Given the description of an element on the screen output the (x, y) to click on. 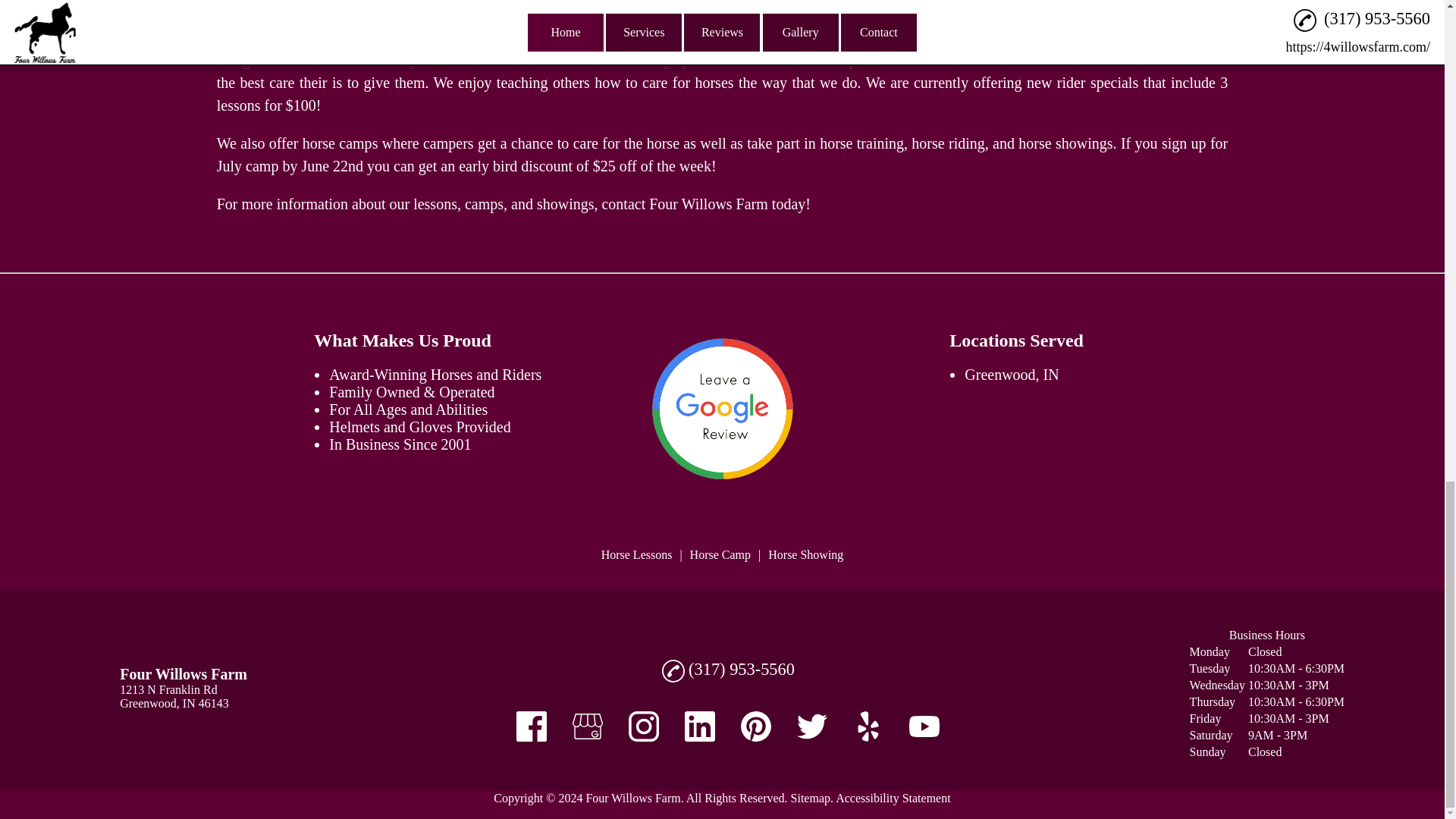
Horse Lessons (636, 554)
Facebook (531, 726)
Youtube (923, 726)
horse riding (947, 143)
Horse Camp (720, 554)
LinkedIn (699, 726)
Twitter (811, 726)
horse showing (1061, 143)
Google My Business (587, 726)
Instagram (643, 726)
